Given the description of an element on the screen output the (x, y) to click on. 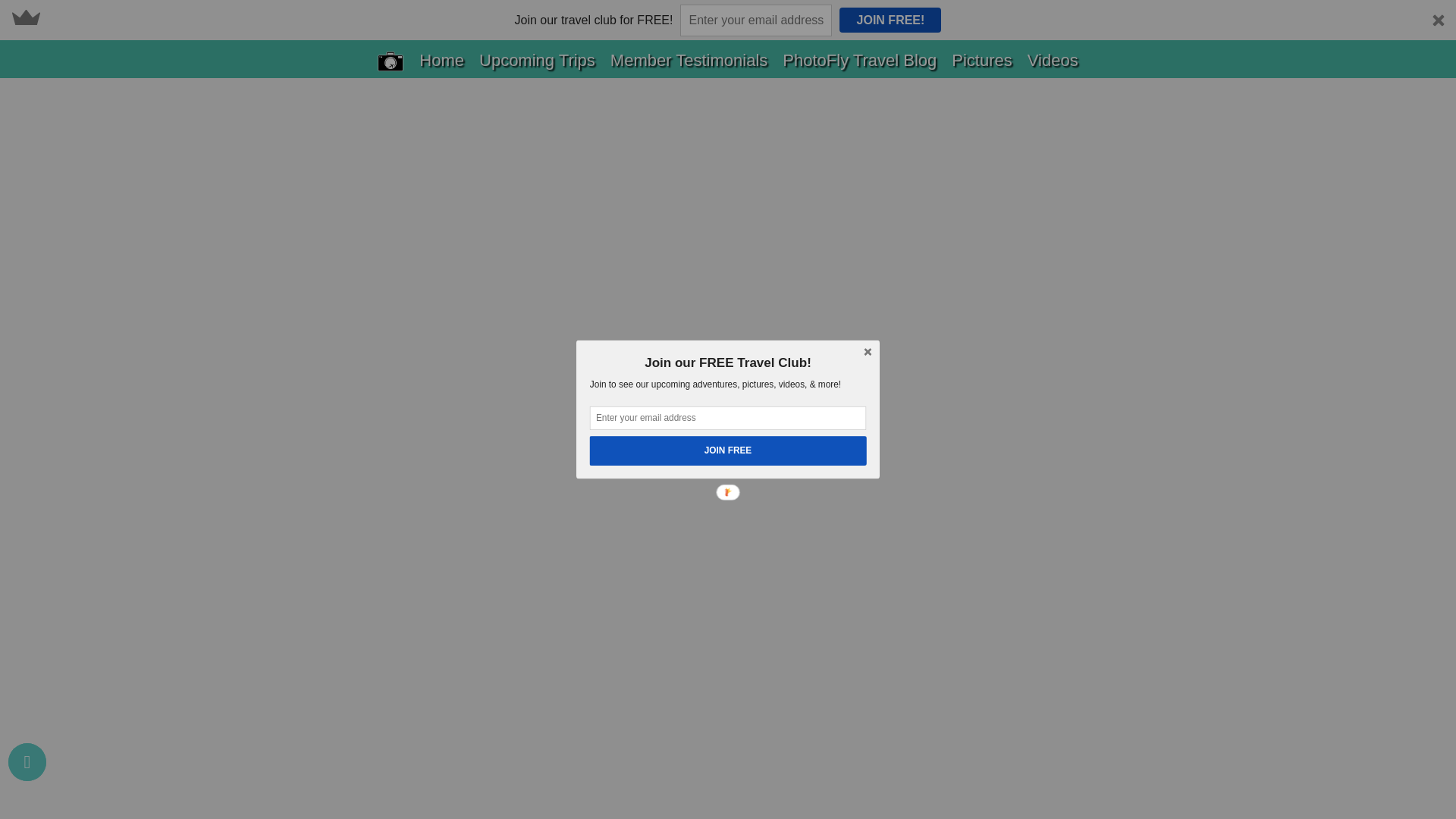
Beautiful Bali (1004, 1)
Colorful Cuba Small Group Tours (1054, 70)
Spectacular Spain Group Tours (1047, 107)
Beautiful Bali (1004, 1)
